Given the description of an element on the screen output the (x, y) to click on. 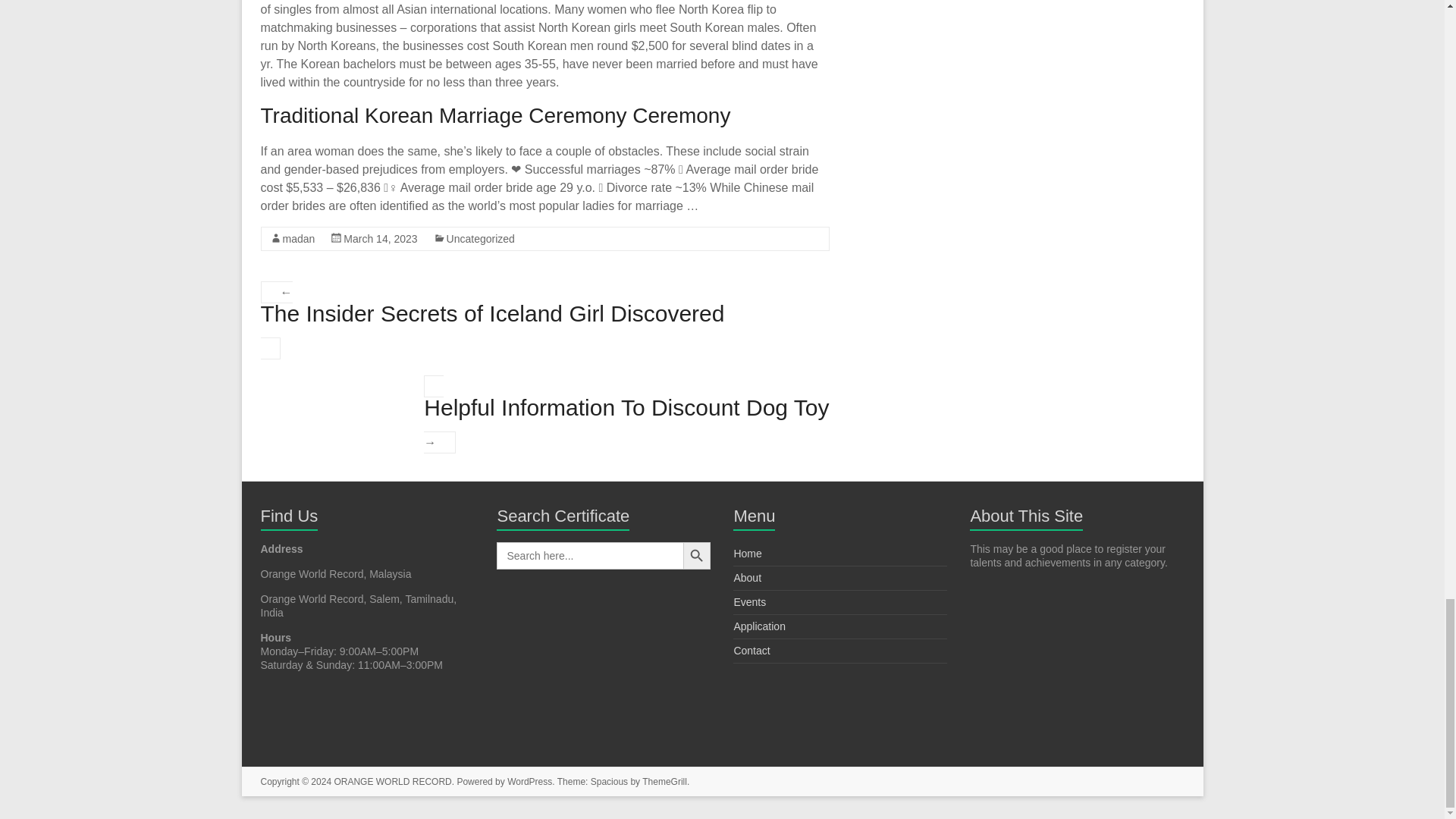
Uncategorized (480, 238)
Application (759, 625)
ORANGE WORLD RECORD (392, 781)
WordPress (528, 781)
ThemeGrill (664, 781)
ORANGE WORLD RECORD (392, 781)
Home (747, 553)
Events (749, 602)
Contact (751, 650)
March 14, 2023 (379, 238)
WordPress (528, 781)
11:07 pm (379, 238)
madan (298, 238)
About (747, 577)
ThemeGrill (664, 781)
